Given the description of an element on the screen output the (x, y) to click on. 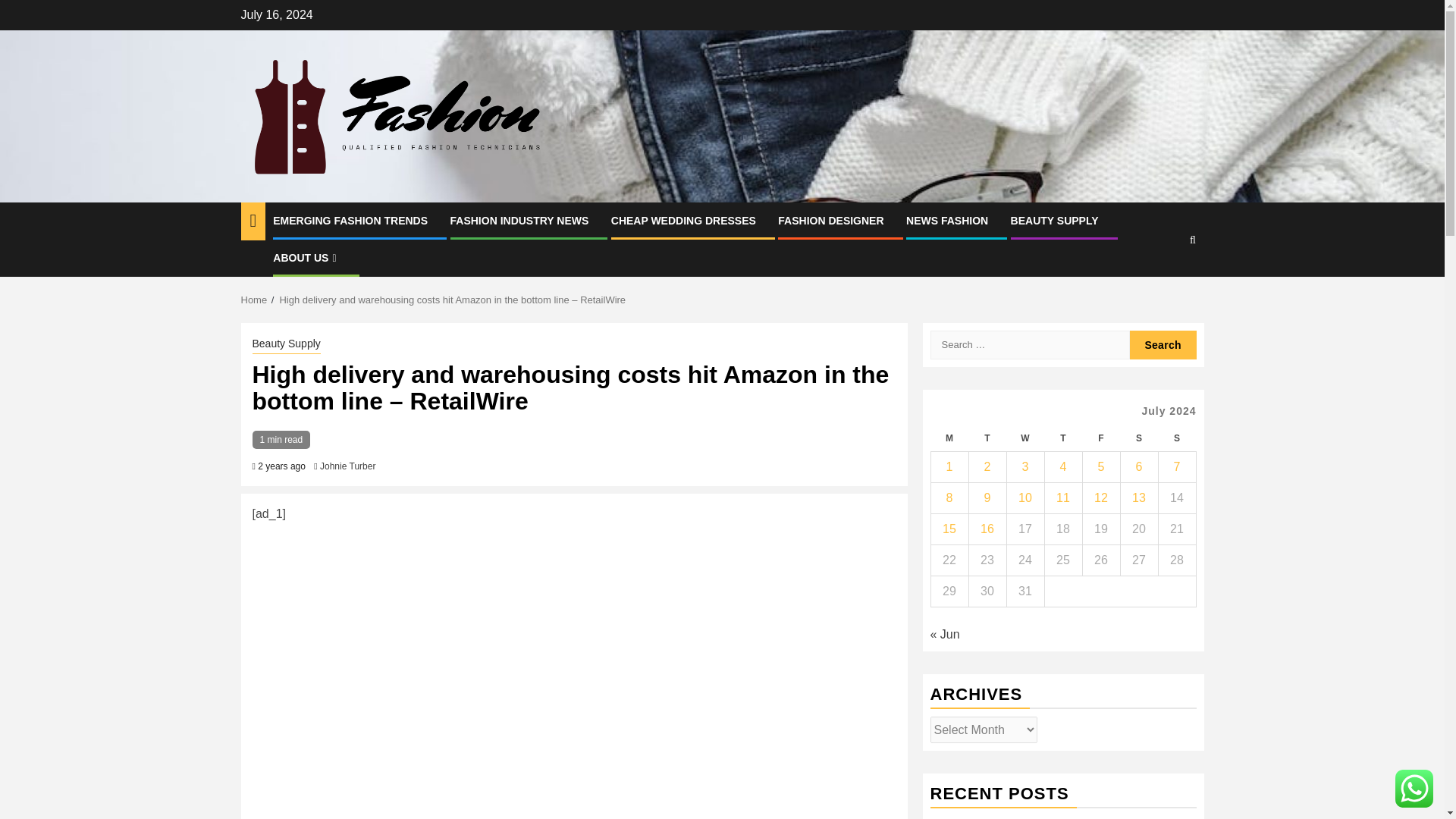
NEWS FASHION (946, 220)
BEAUTY SUPPLY (1054, 220)
Thursday (1062, 438)
Search (1162, 344)
Saturday (1138, 438)
Search (1163, 285)
CHEAP WEDDING DRESSES (683, 220)
Friday (1100, 438)
Home (254, 299)
Wednesday (1024, 438)
Tuesday (987, 438)
FASHION DESIGNER (830, 220)
Beauty Supply (285, 343)
EMERGING FASHION TRENDS (350, 220)
Sunday (1176, 438)
